Given the description of an element on the screen output the (x, y) to click on. 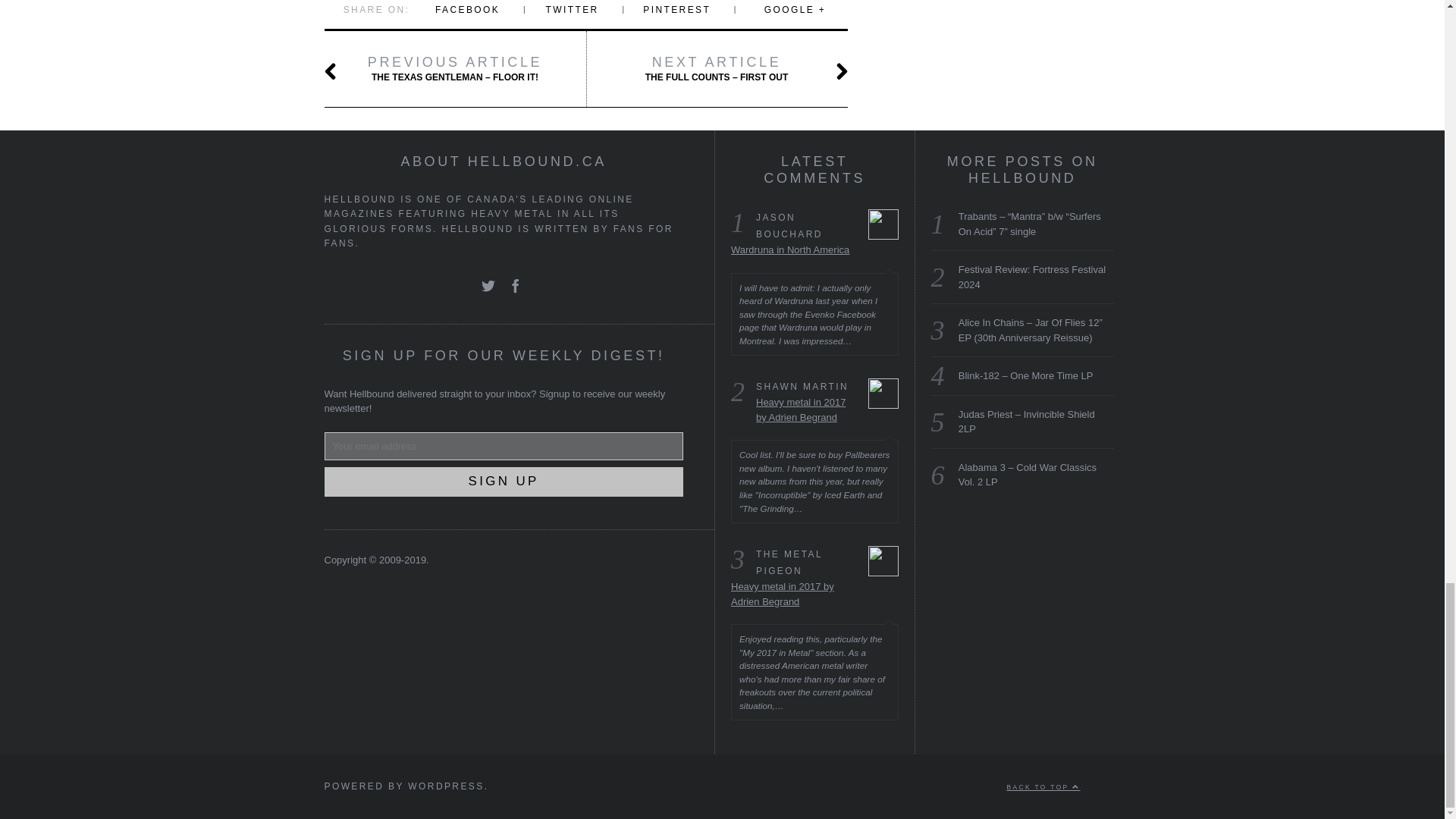
Sign up (503, 481)
